Given the description of an element on the screen output the (x, y) to click on. 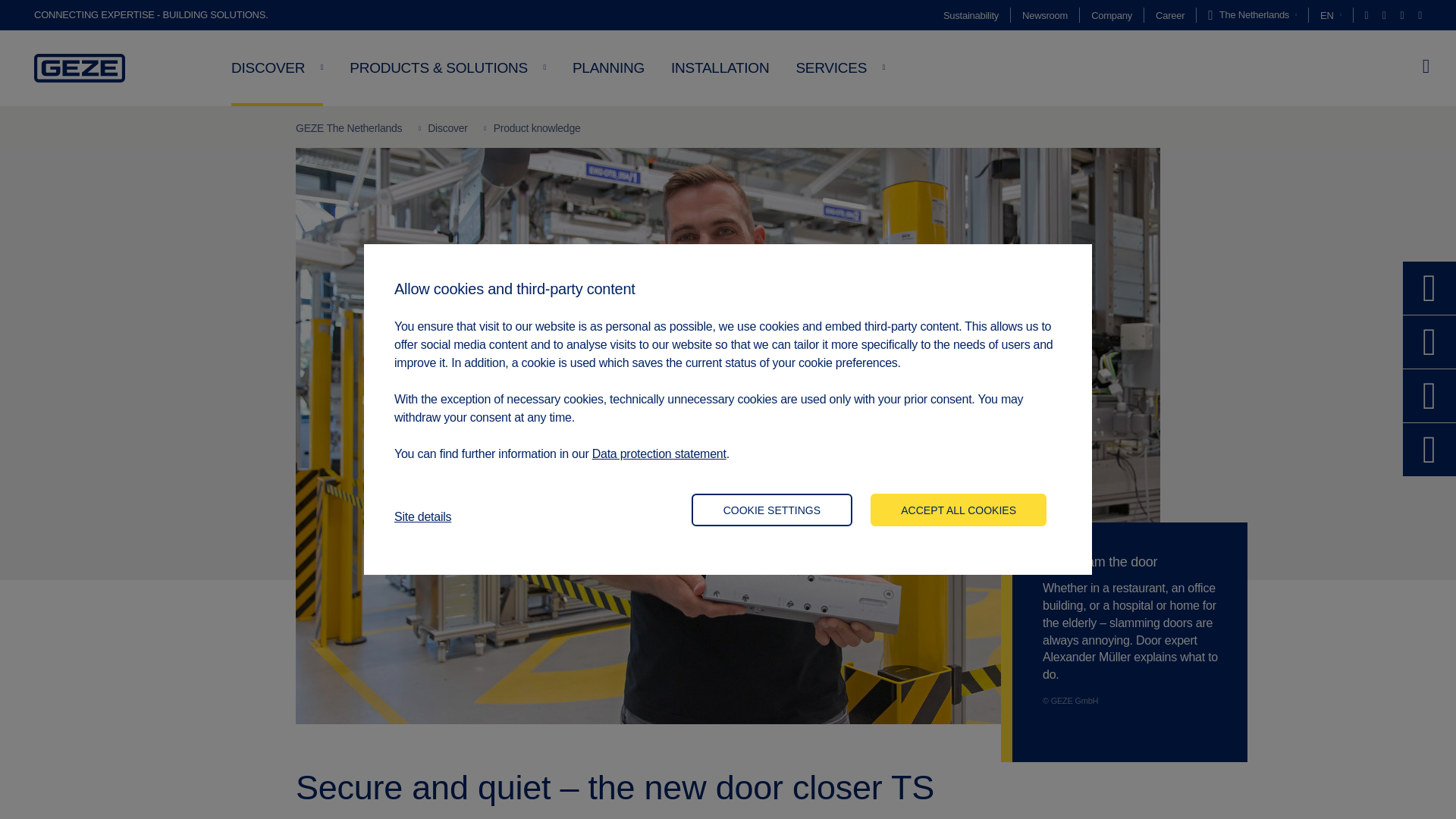
Sustainability (970, 15)
Company (1111, 15)
Career (1170, 15)
Newsroom (1044, 15)
Career (1170, 15)
Company (1111, 15)
Newsroom (1044, 15)
Sustainability (970, 15)
The Netherlands (1252, 15)
